Given the description of an element on the screen output the (x, y) to click on. 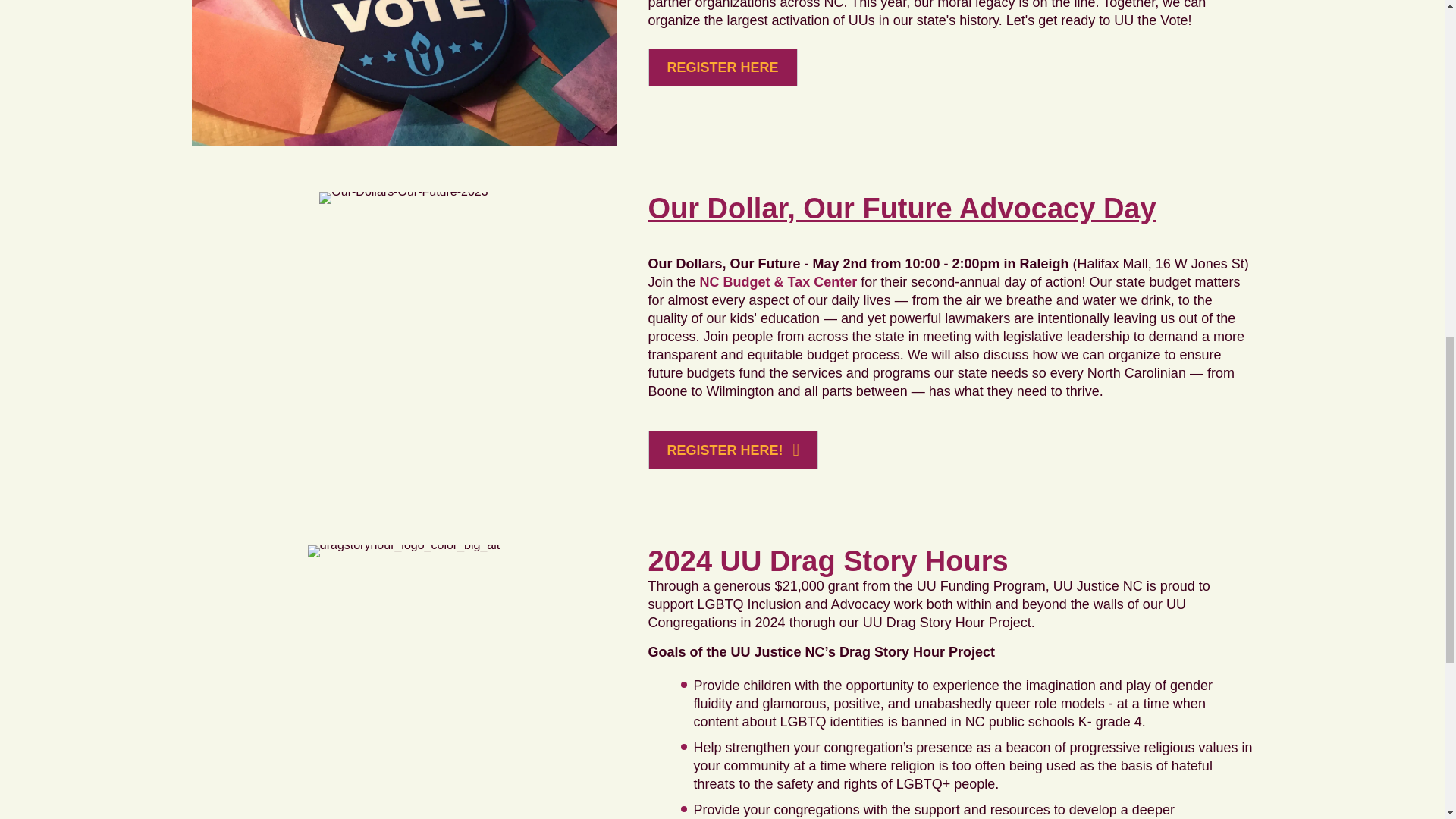
Our-Dollars-Our-Future-2023 (402, 197)
REGISTER HERE (721, 67)
UUTV Cropped (402, 72)
Our Dollar, Our Future Advocacy Day (901, 208)
REGISTER HERE! (732, 449)
Our Dollar, Our Future Advocacy Day (901, 208)
